Given the description of an element on the screen output the (x, y) to click on. 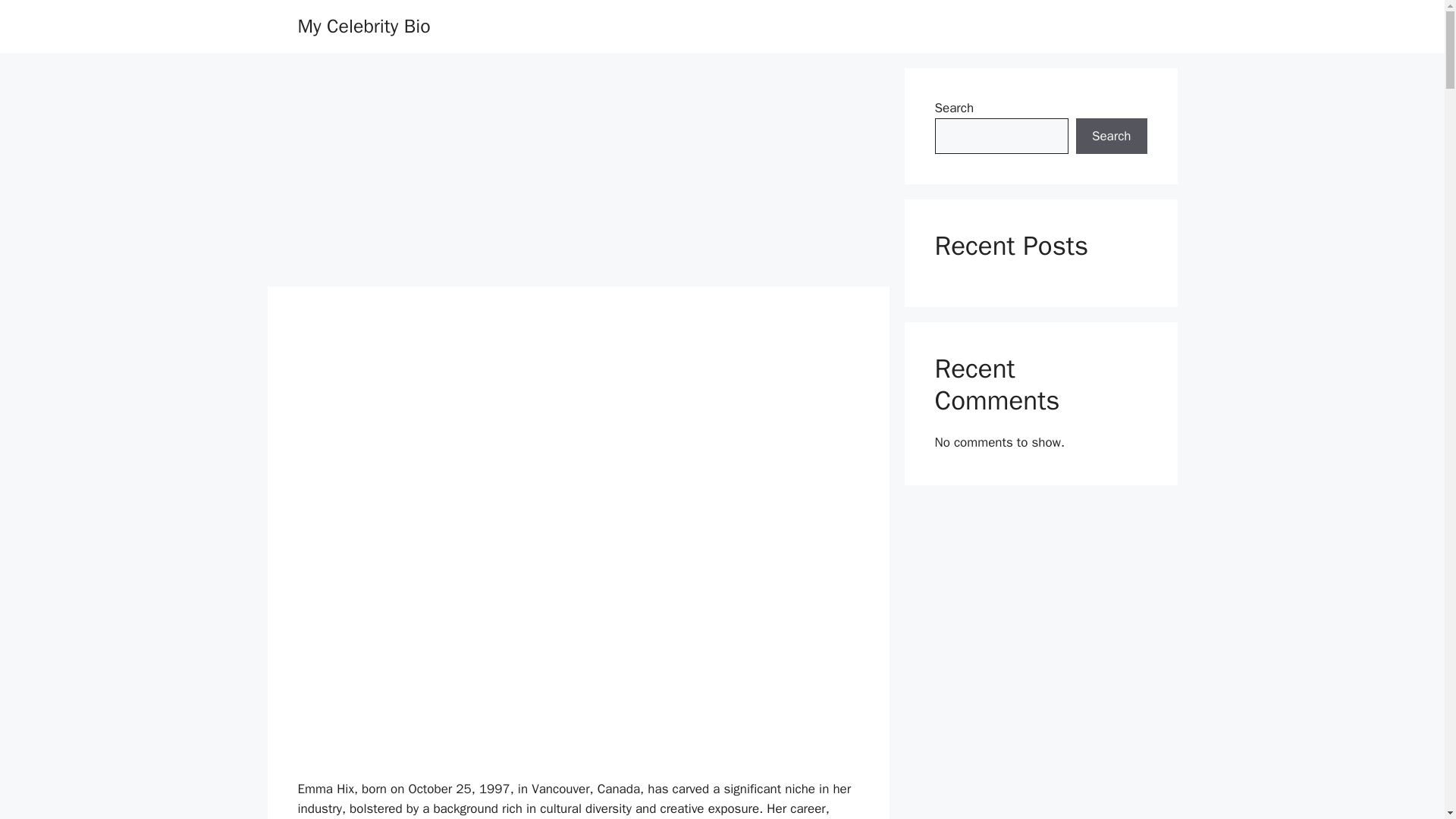
Advertisement (577, 173)
Advertisement (578, 449)
Advertisement (578, 667)
My Celebrity Bio (363, 25)
Search (1111, 135)
